Given the description of an element on the screen output the (x, y) to click on. 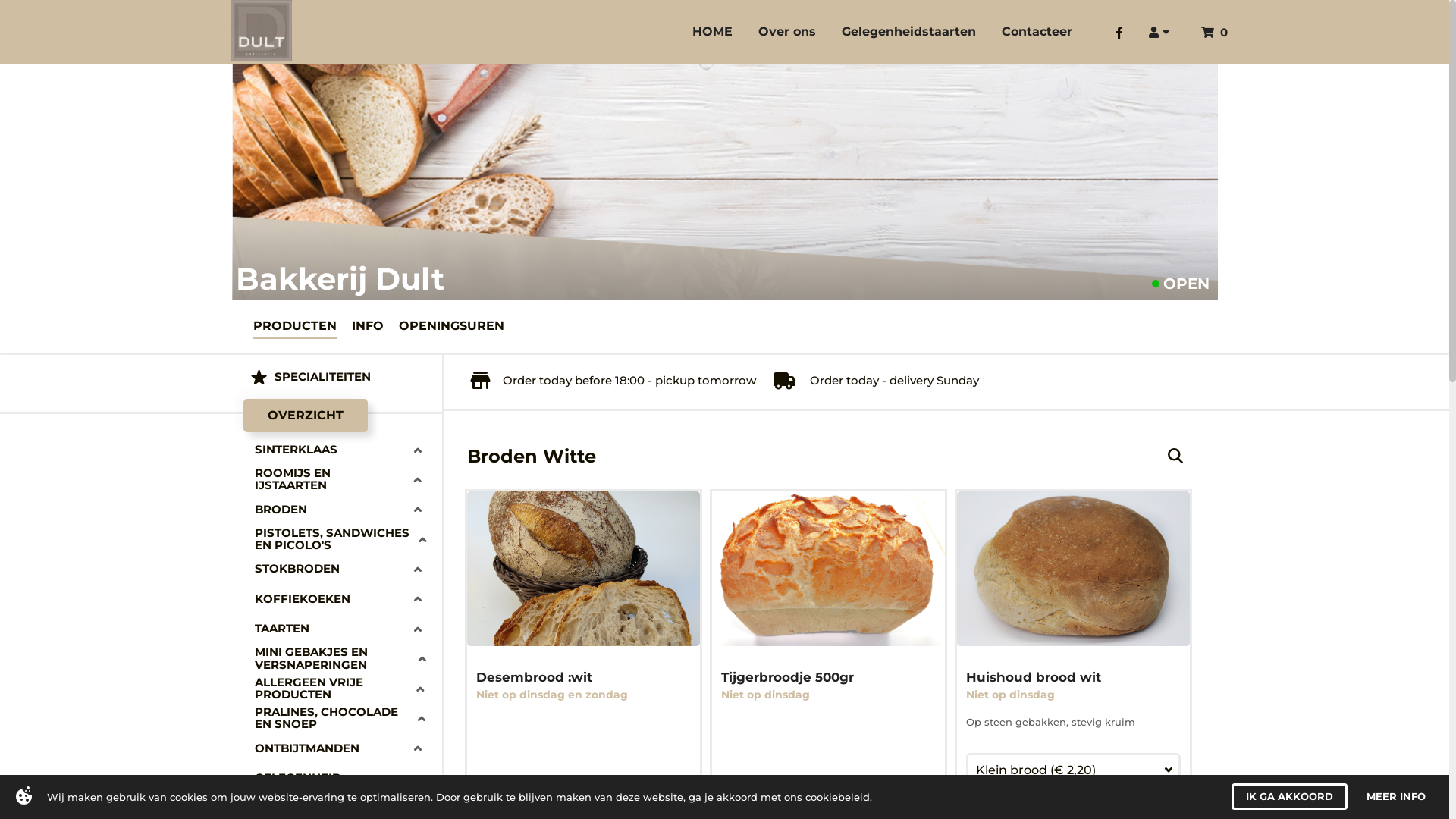
Contacteer Element type: text (1036, 32)
Gelegenheidstaarten Element type: text (908, 32)
Over ons Element type: text (786, 32)
PRODUCTEN Element type: text (294, 325)
Desembrood :wit Element type: text (537, 677)
INFO Element type: text (367, 325)
OVERZICHT Element type: text (304, 414)
SPECIALITEITEN Element type: text (337, 377)
HOME Element type: text (712, 32)
Order today before 18:00 - pickup tomorrow Element type: text (613, 379)
Tijgerbroodje 500gr Element type: text (790, 677)
Huishoud brood wit Element type: text (1036, 677)
OPENINGSUREN Element type: text (451, 325)
IK GA AKKOORD Element type: text (1289, 796)
MEER INFO Element type: text (1395, 796)
0 Element type: text (1214, 32)
Order today - delivery Sunday Element type: text (875, 380)
